Given the description of an element on the screen output the (x, y) to click on. 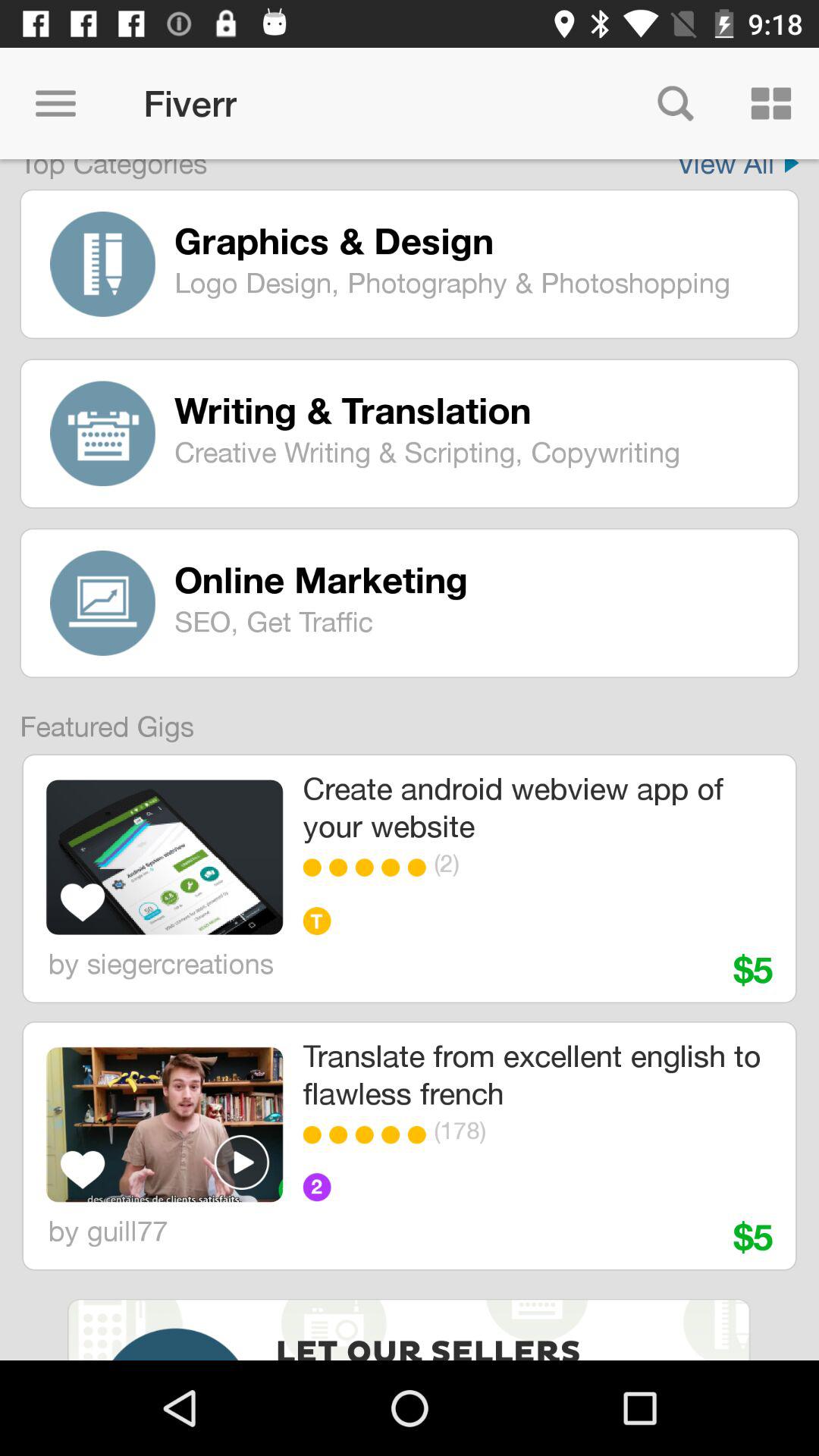
select the writing & translation icon (475, 410)
